Given the description of an element on the screen output the (x, y) to click on. 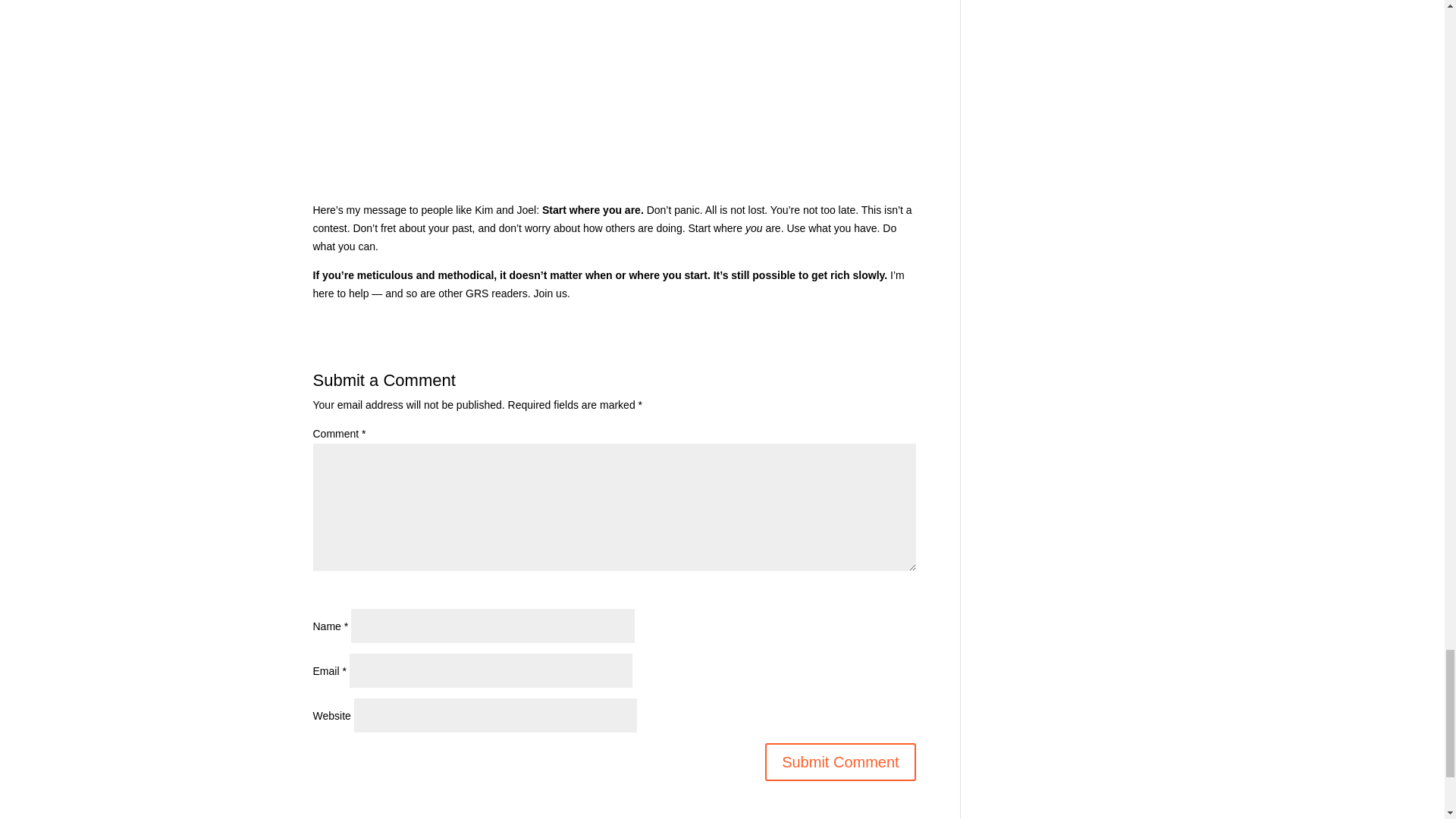
Submit Comment (840, 761)
Submit Comment (840, 761)
